Given the description of an element on the screen output the (x, y) to click on. 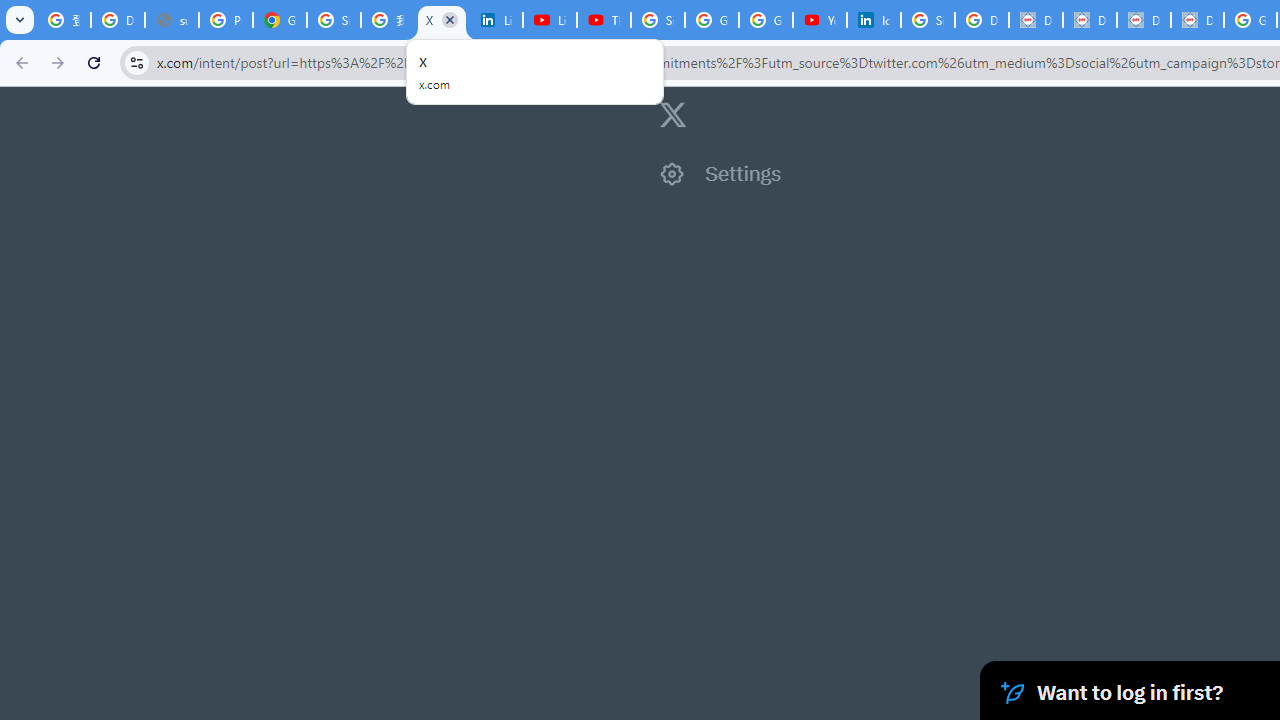
Data Privacy Framework (1197, 20)
Data Privacy Framework (1089, 20)
support.google.com - Network error (171, 20)
Sign in - Google Accounts (657, 20)
